Given the description of an element on the screen output the (x, y) to click on. 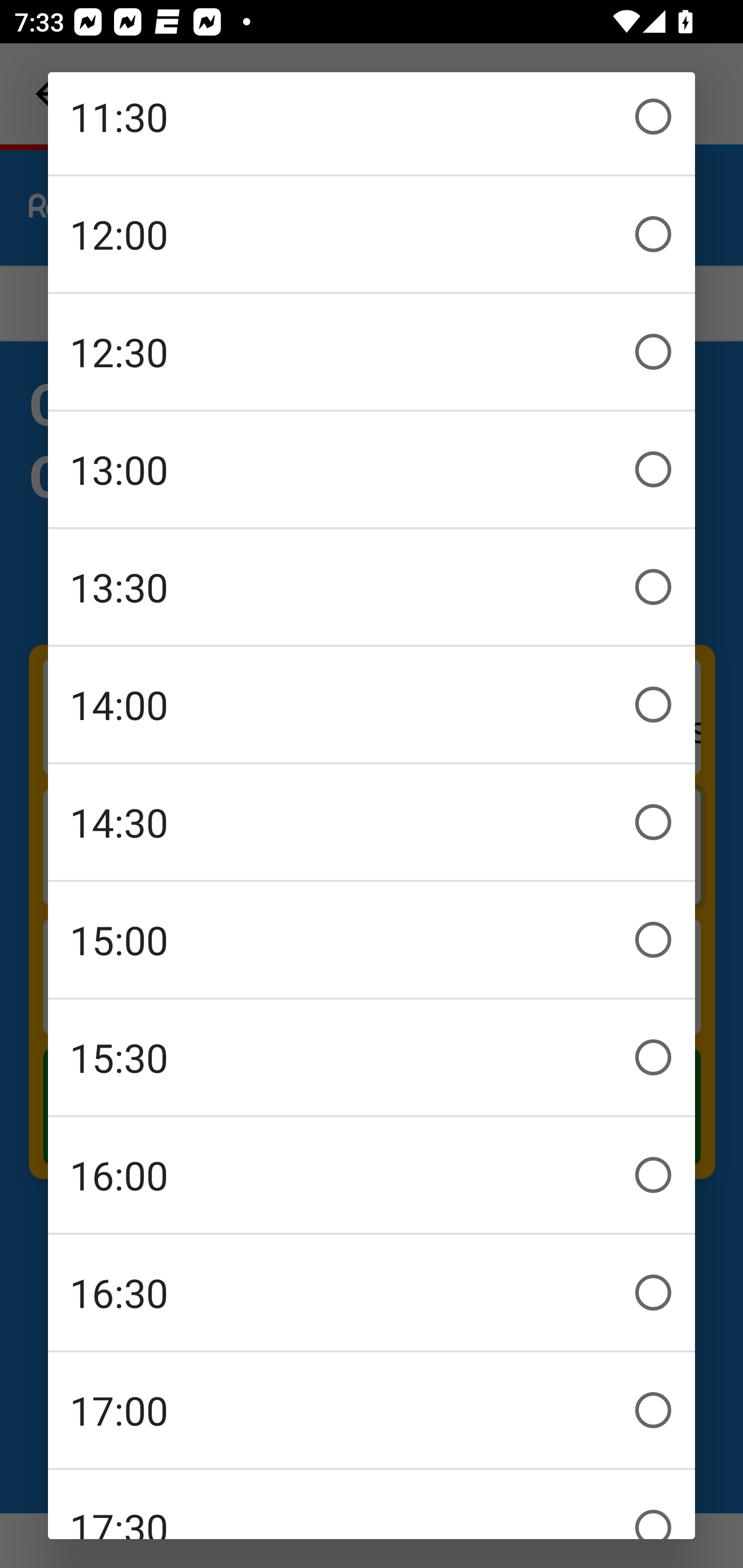
11:30 (371, 123)
12:00 (371, 233)
12:30 (371, 351)
13:00 (371, 468)
13:30 (371, 586)
14:00 (371, 704)
14:30 (371, 822)
15:00 (371, 939)
15:30 (371, 1057)
16:00 (371, 1174)
16:30 (371, 1292)
17:00 (371, 1409)
17:30 (371, 1504)
